Given the description of an element on the screen output the (x, y) to click on. 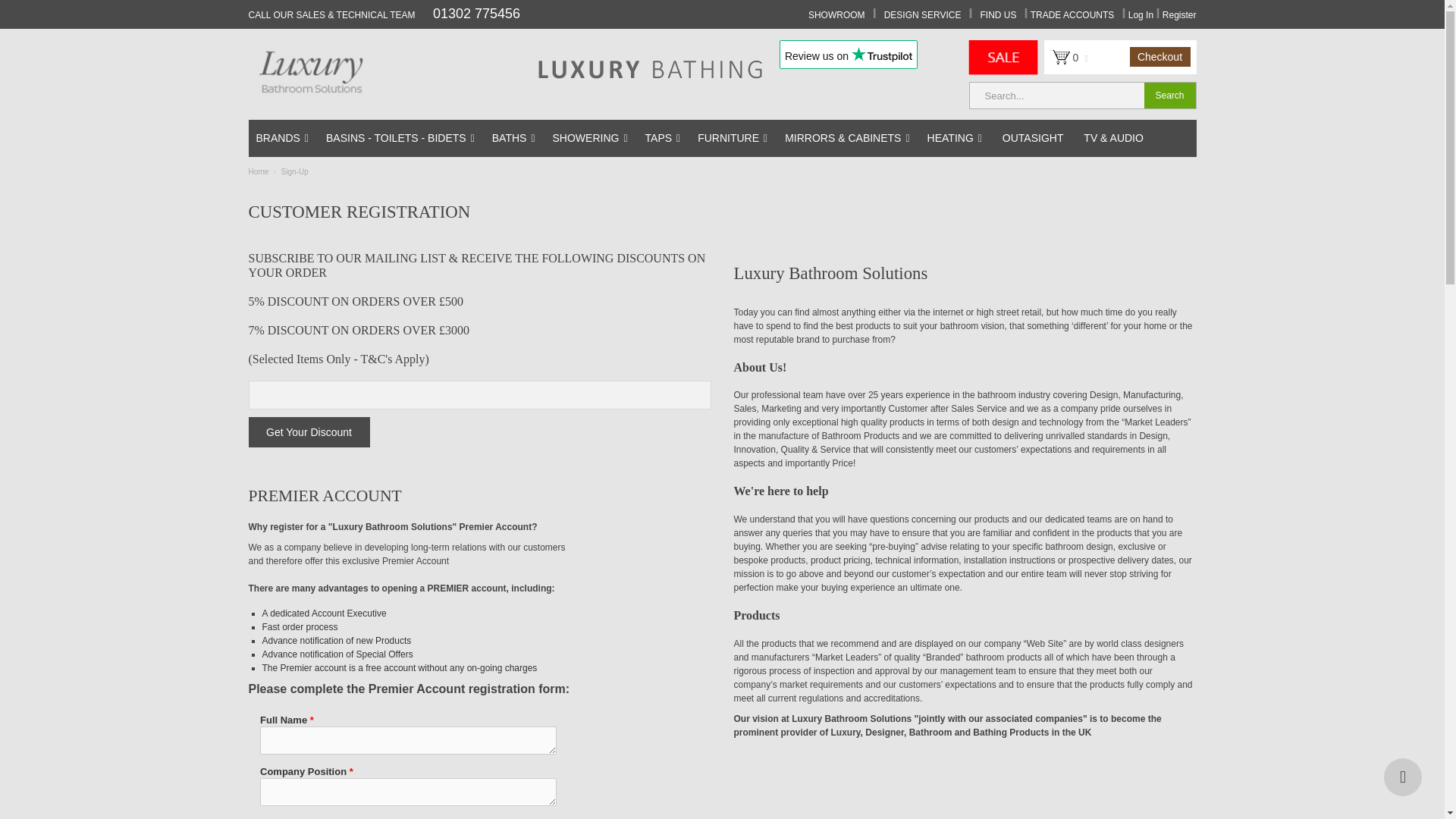
Search (1168, 95)
BRANDS (281, 138)
FURNITURE (732, 138)
TAPS (662, 138)
SHOWERING (589, 138)
checkout (1160, 56)
Outasight (1032, 138)
Get Your Discount (308, 431)
SHOWROOM (836, 14)
BATHS (513, 138)
HEATING (955, 138)
Register (1178, 14)
You can put here a phone number or some additional help info (384, 14)
TRADE ACCOUNTS (1072, 14)
Register for an account (1178, 14)
